Given the description of an element on the screen output the (x, y) to click on. 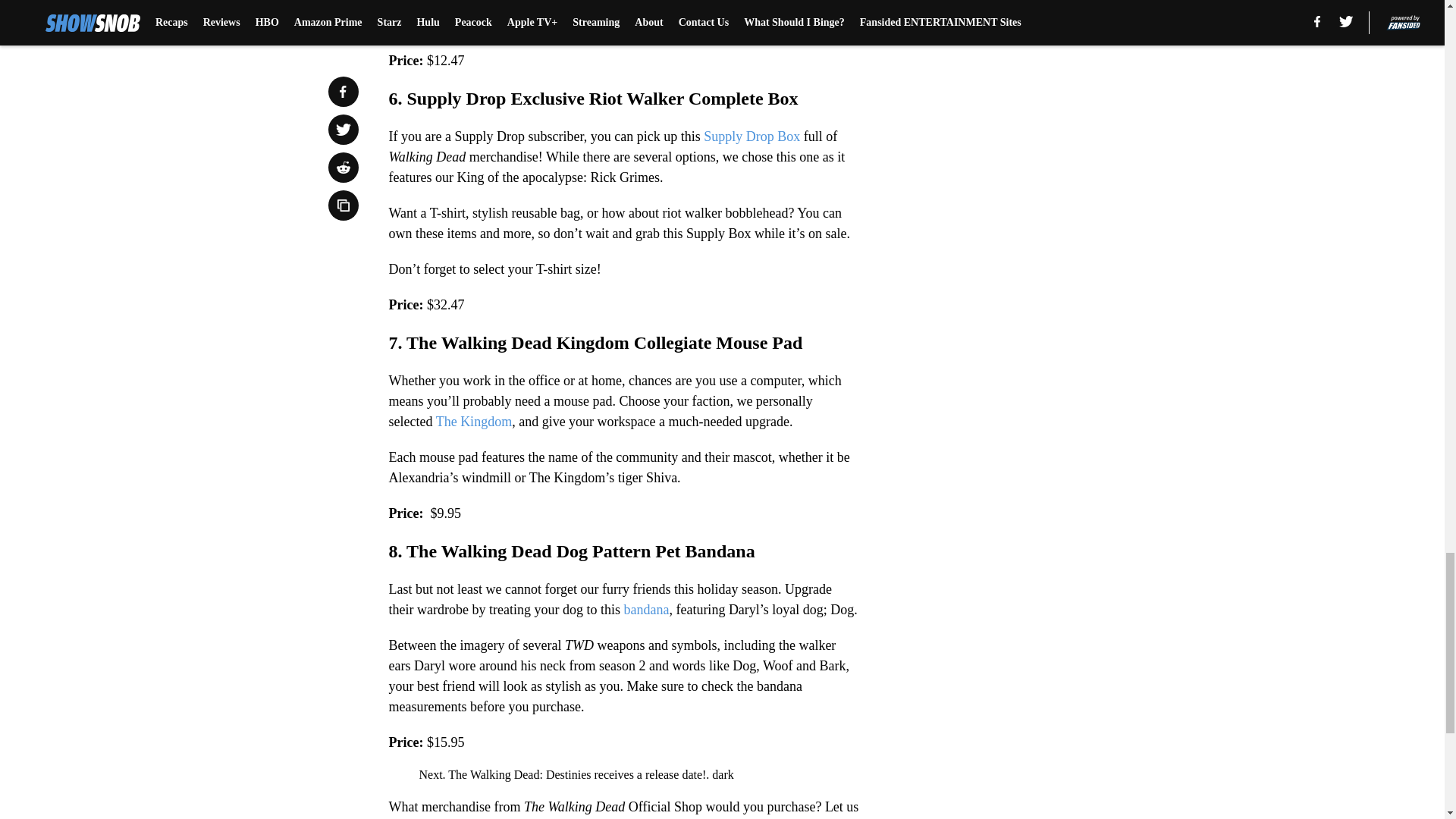
Commonwealth T-shirt (451, 24)
bandana (645, 609)
The Kingdom (473, 421)
Supply Drop Box (751, 136)
